Given the description of an element on the screen output the (x, y) to click on. 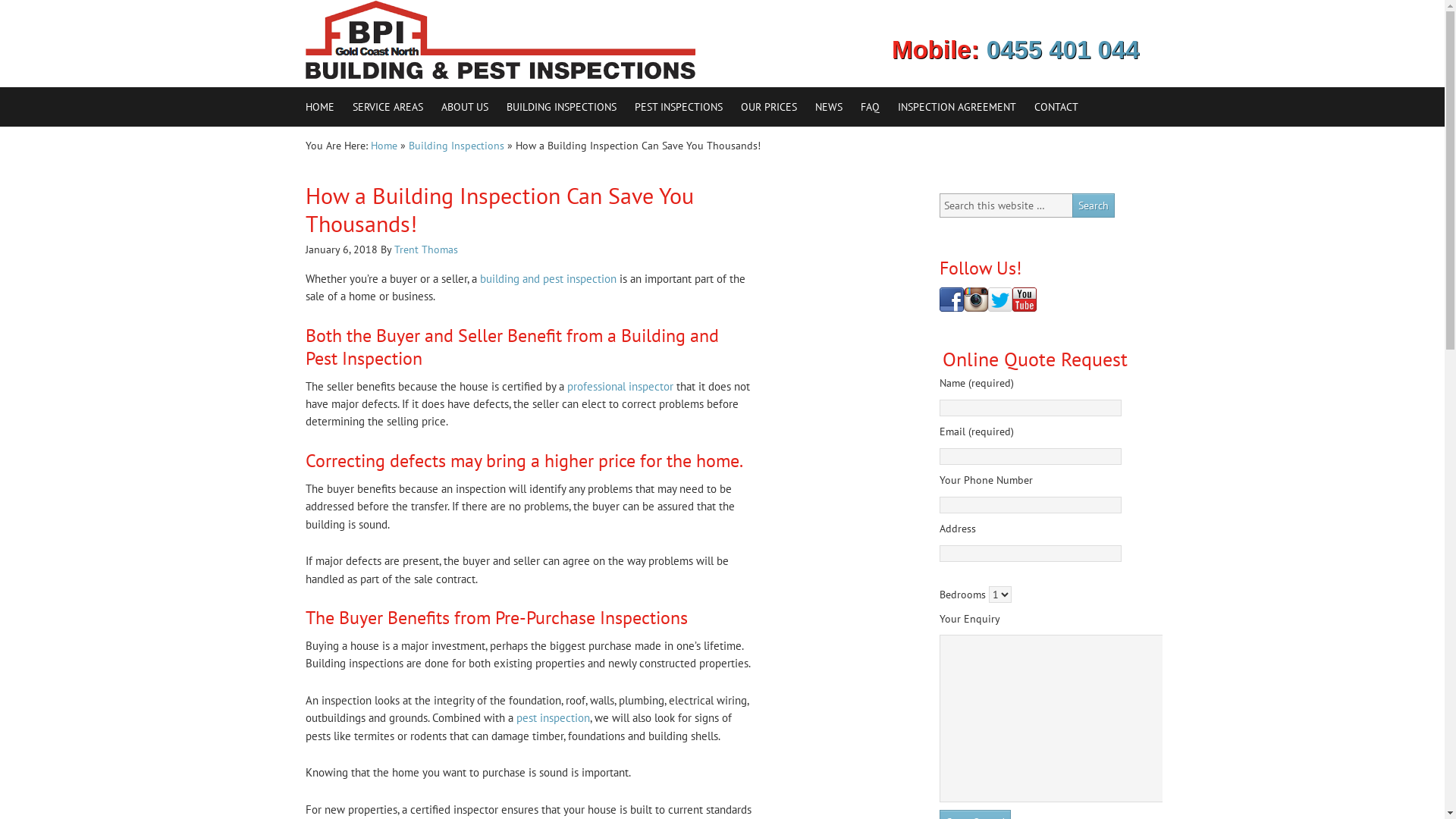
0455 401 044 Element type: text (1062, 49)
PEST INSPECTIONS Element type: text (677, 106)
Search Element type: text (1093, 205)
BUILDING INSPECTIONS Element type: text (561, 106)
Home Element type: text (383, 145)
INSPECTION AGREEMENT Element type: text (956, 106)
Follow me on Twitter Element type: hover (999, 299)
Follow me on Instagram Element type: hover (975, 299)
BPI BUILDING AND PEST INSPECTIONS GOLD COAST Element type: text (437, 43)
FAQ Element type: text (869, 106)
CONTACT Element type: text (1056, 106)
OUR PRICES Element type: text (768, 106)
professional inspector Element type: text (620, 386)
Building Inspections Element type: text (455, 145)
pest inspection Element type: text (552, 717)
ABOUT US Element type: text (464, 106)
Trent Thomas Element type: text (426, 249)
Watch me on YouTube Element type: hover (1023, 299)
Friend me on Facebook Element type: hover (950, 299)
SERVICE AREAS Element type: text (386, 106)
building and pest inspection Element type: text (547, 278)
NEWS Element type: text (827, 106)
HOME Element type: text (318, 106)
